Given the description of an element on the screen output the (x, y) to click on. 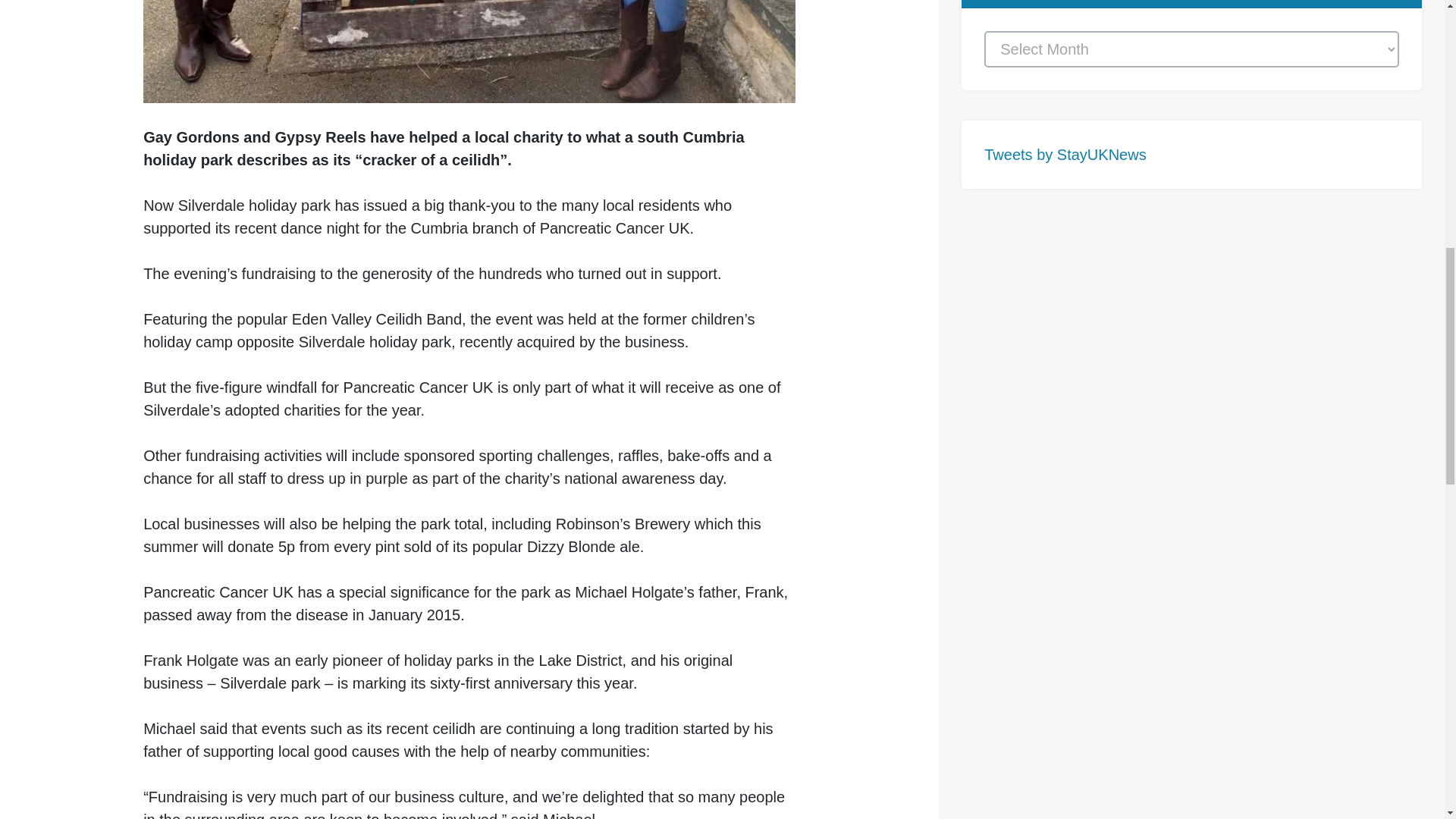
Tweets by StayUKNews (1064, 154)
